Given the description of an element on the screen output the (x, y) to click on. 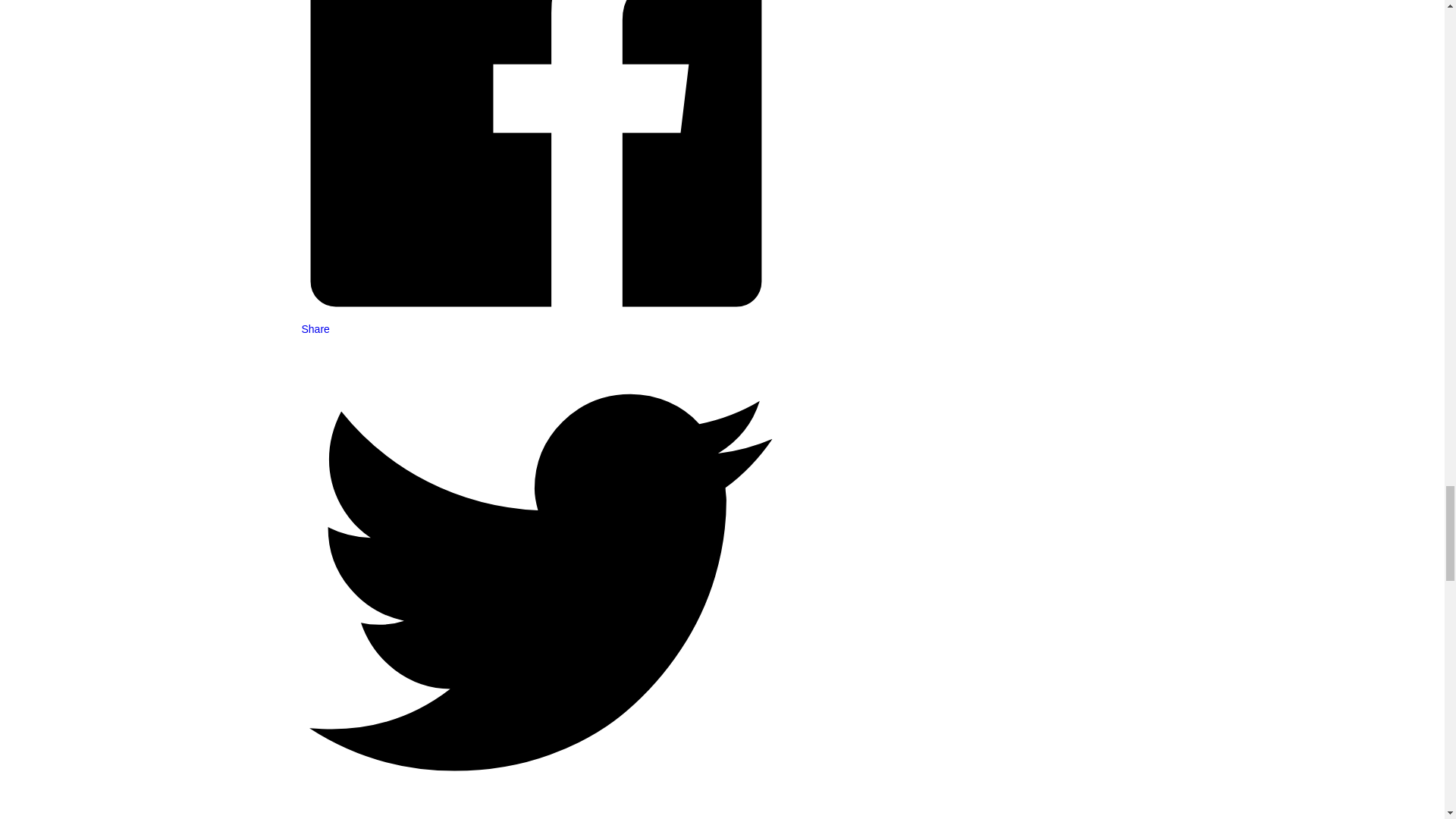
Tweet on Twitter (542, 814)
Share on Facebook (542, 320)
